Given the description of an element on the screen output the (x, y) to click on. 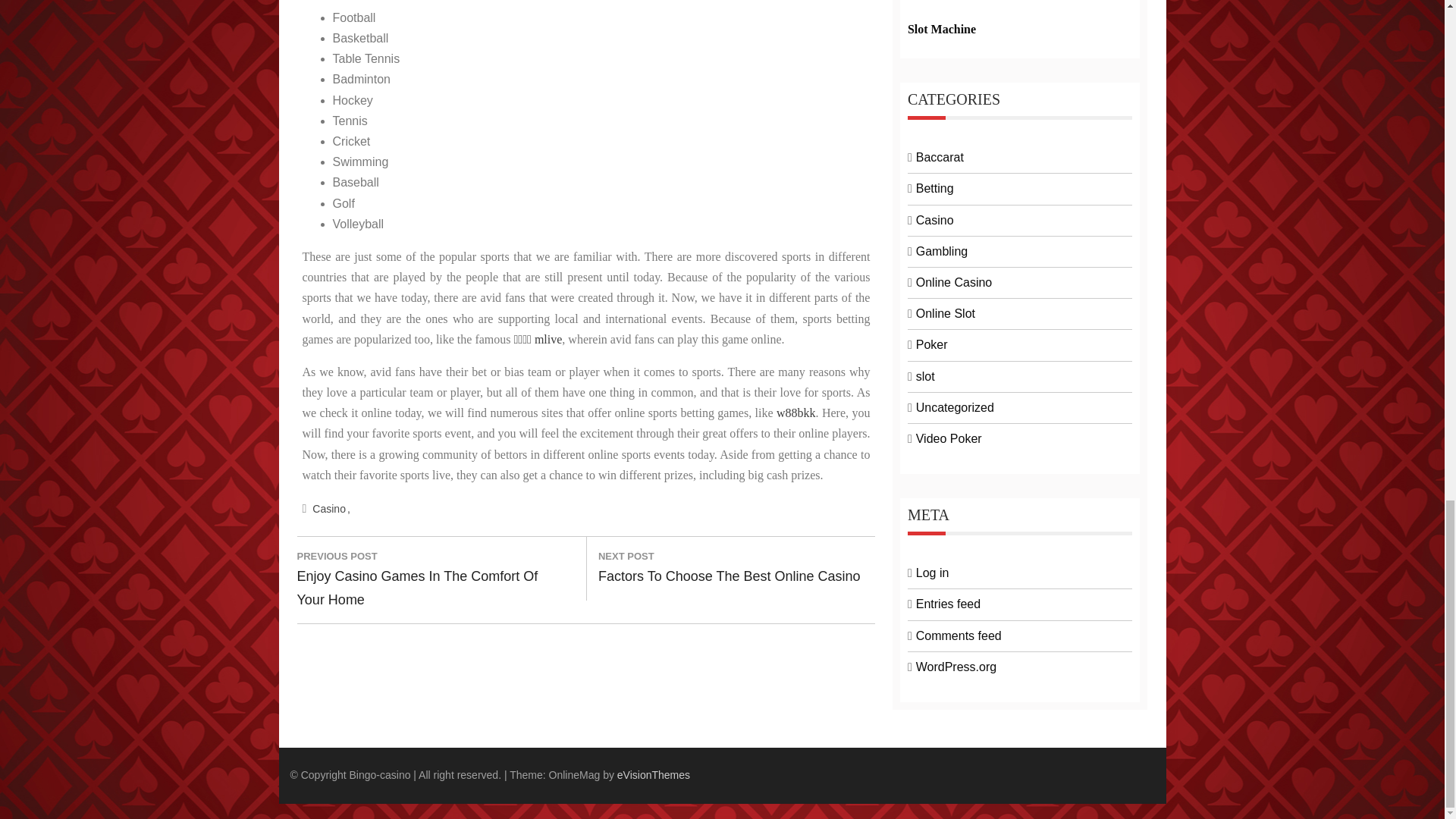
Casino (330, 509)
w88bkk (795, 412)
